Given the description of an element on the screen output the (x, y) to click on. 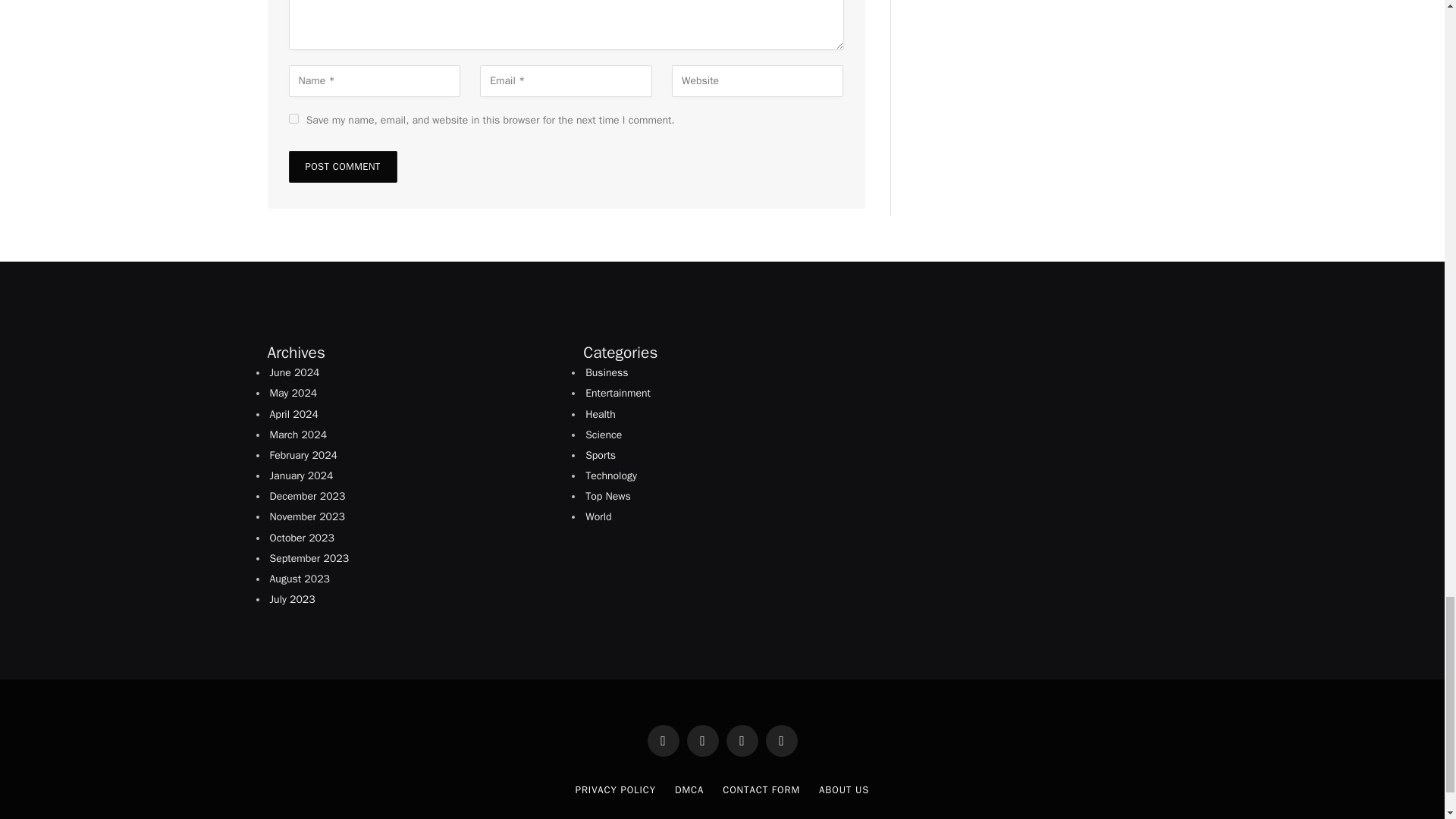
Post Comment (342, 166)
yes (293, 118)
